Given the description of an element on the screen output the (x, y) to click on. 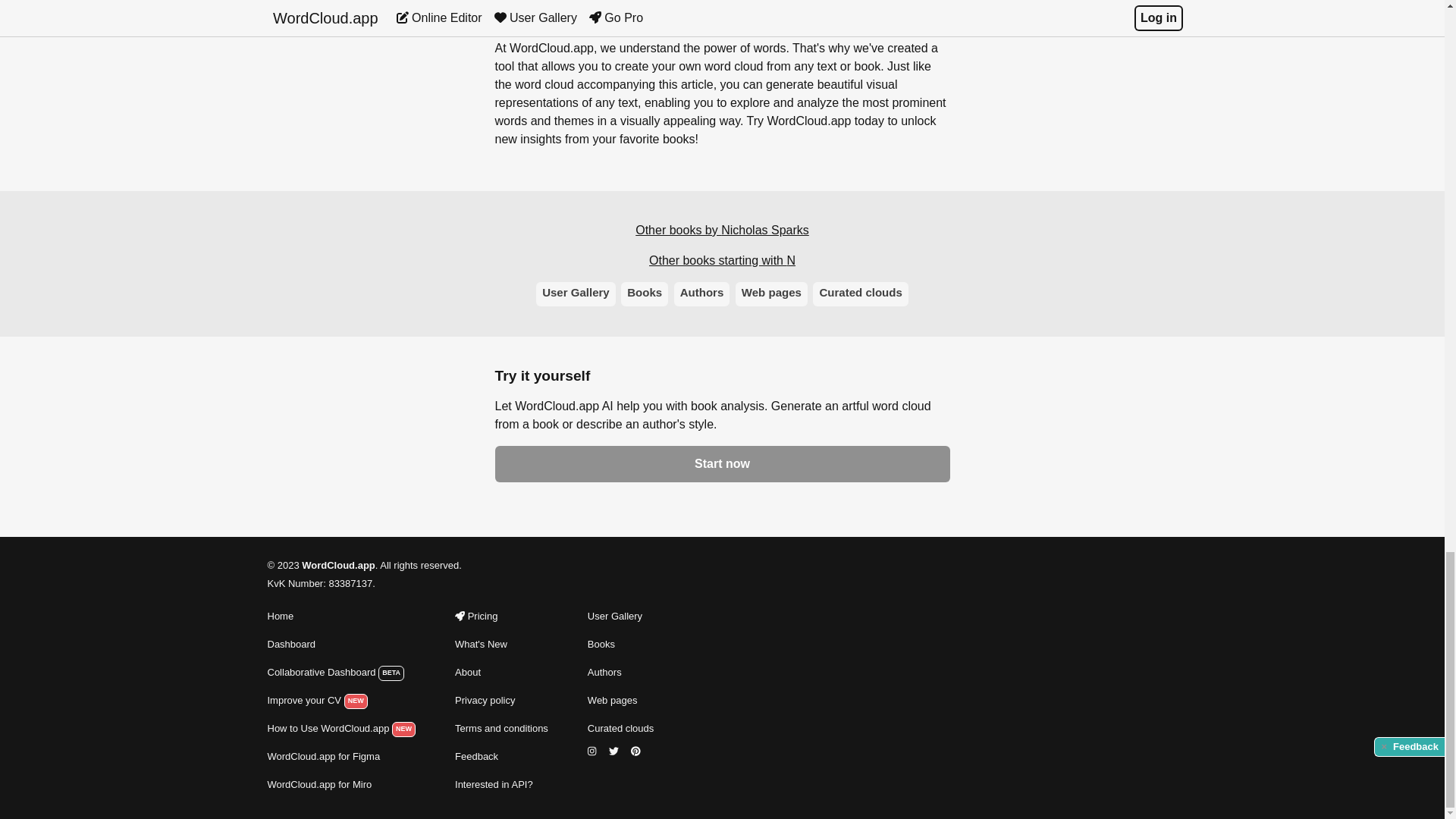
WordClouds for hundreds of books (620, 672)
Books (644, 293)
WordCloud.app: word cloud builder (340, 616)
Curated clouds (859, 293)
WordClouds for hundreds of web pages (620, 700)
Other books by Nicholas Sparks (721, 230)
About WordCloud (501, 672)
Feedback (501, 756)
Curated clouds (620, 728)
Terms and conditions (501, 728)
